Given the description of an element on the screen output the (x, y) to click on. 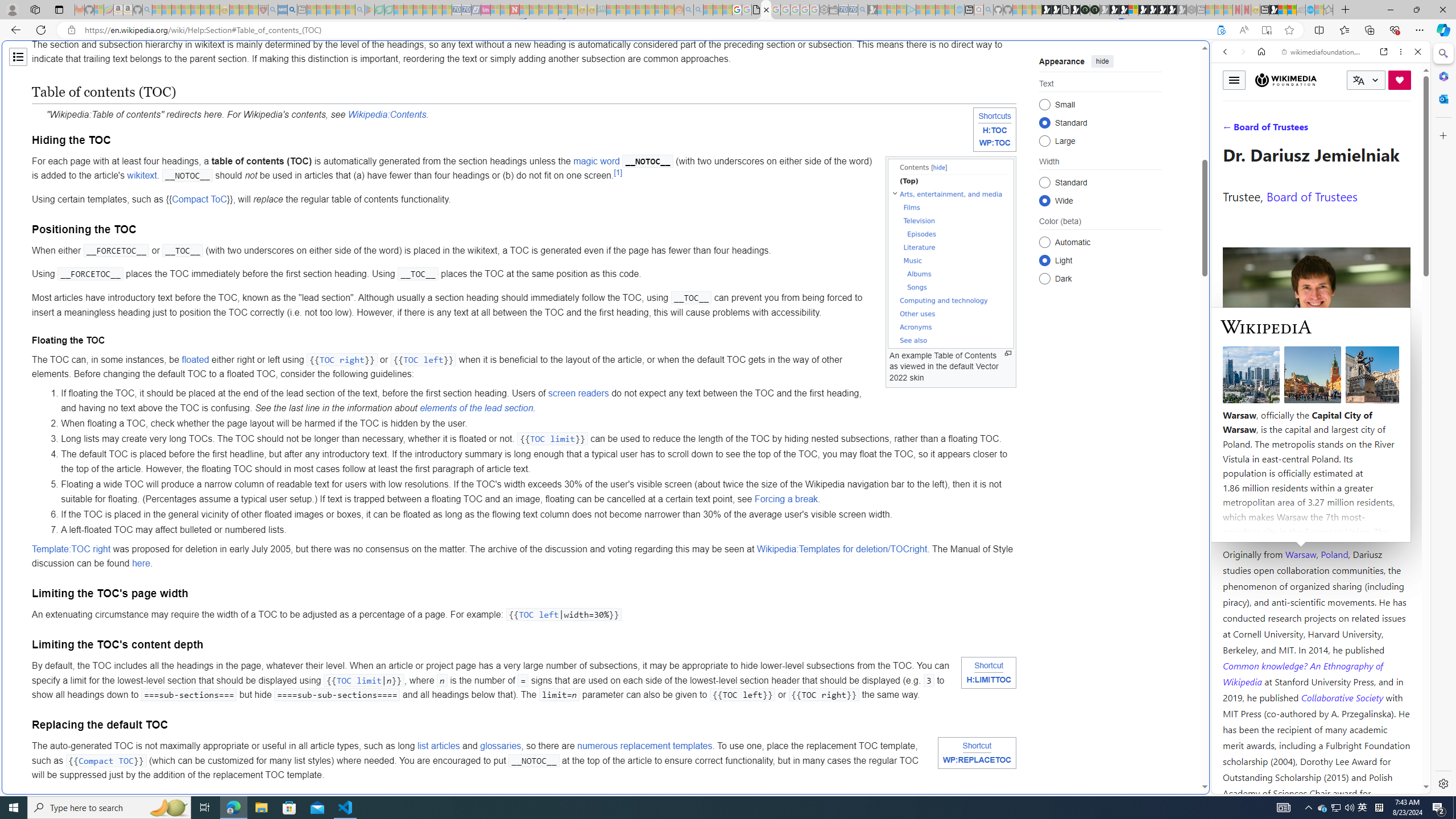
Search Filter, WEB (1230, 129)
numerous replacement templates (643, 746)
WP:TOC (994, 143)
Sign in to your account (1133, 9)
utah sues federal government - Search (922, 389)
Enter Immersive Reader (F9) (1266, 29)
